Given the description of an element on the screen output the (x, y) to click on. 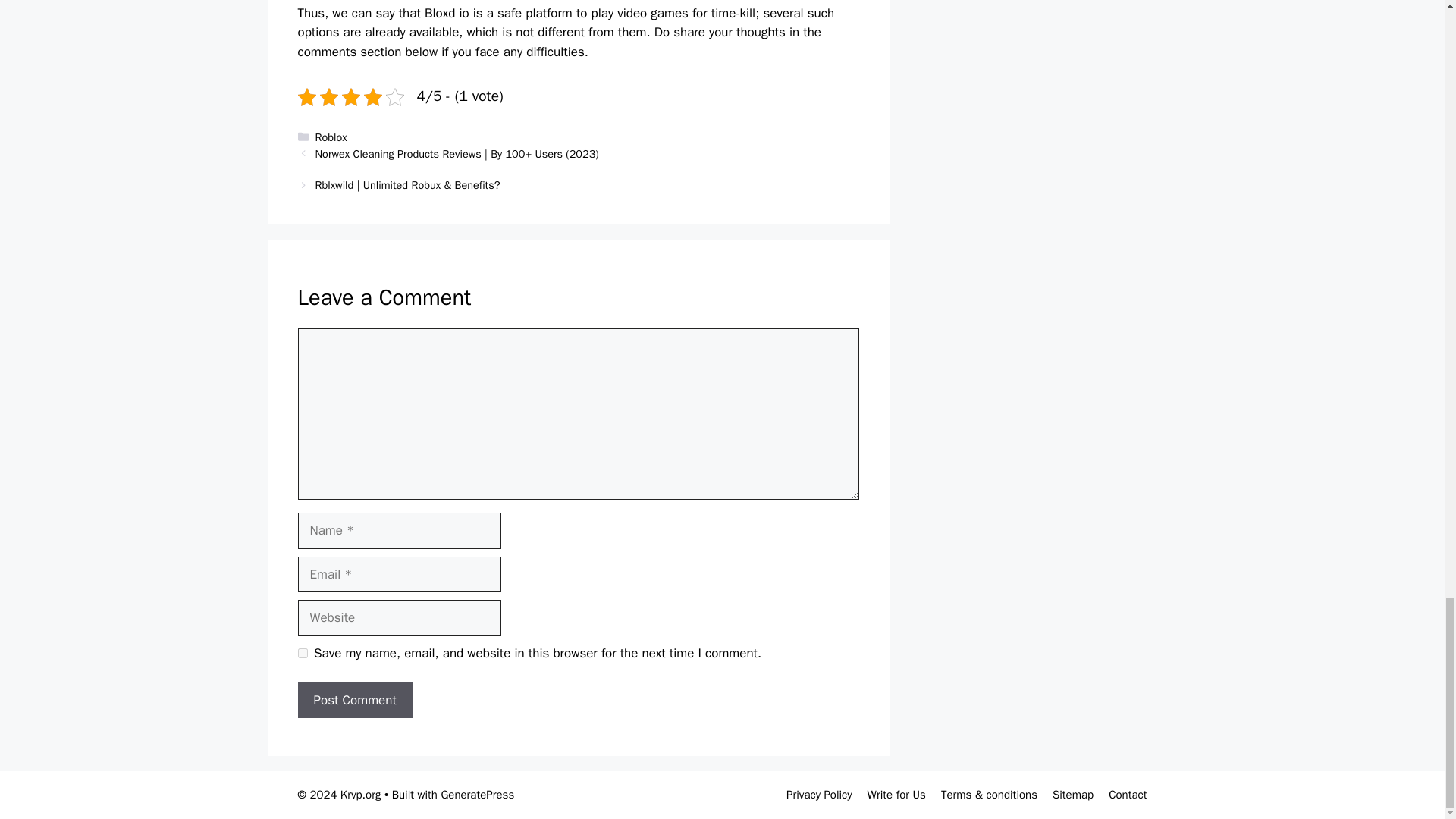
GeneratePress (477, 794)
Privacy Policy (818, 794)
yes (302, 653)
Roblox (331, 137)
Write for Us (896, 794)
Contact (1127, 794)
Post Comment (354, 700)
Post Comment (354, 700)
Sitemap (1072, 794)
